Given the description of an element on the screen output the (x, y) to click on. 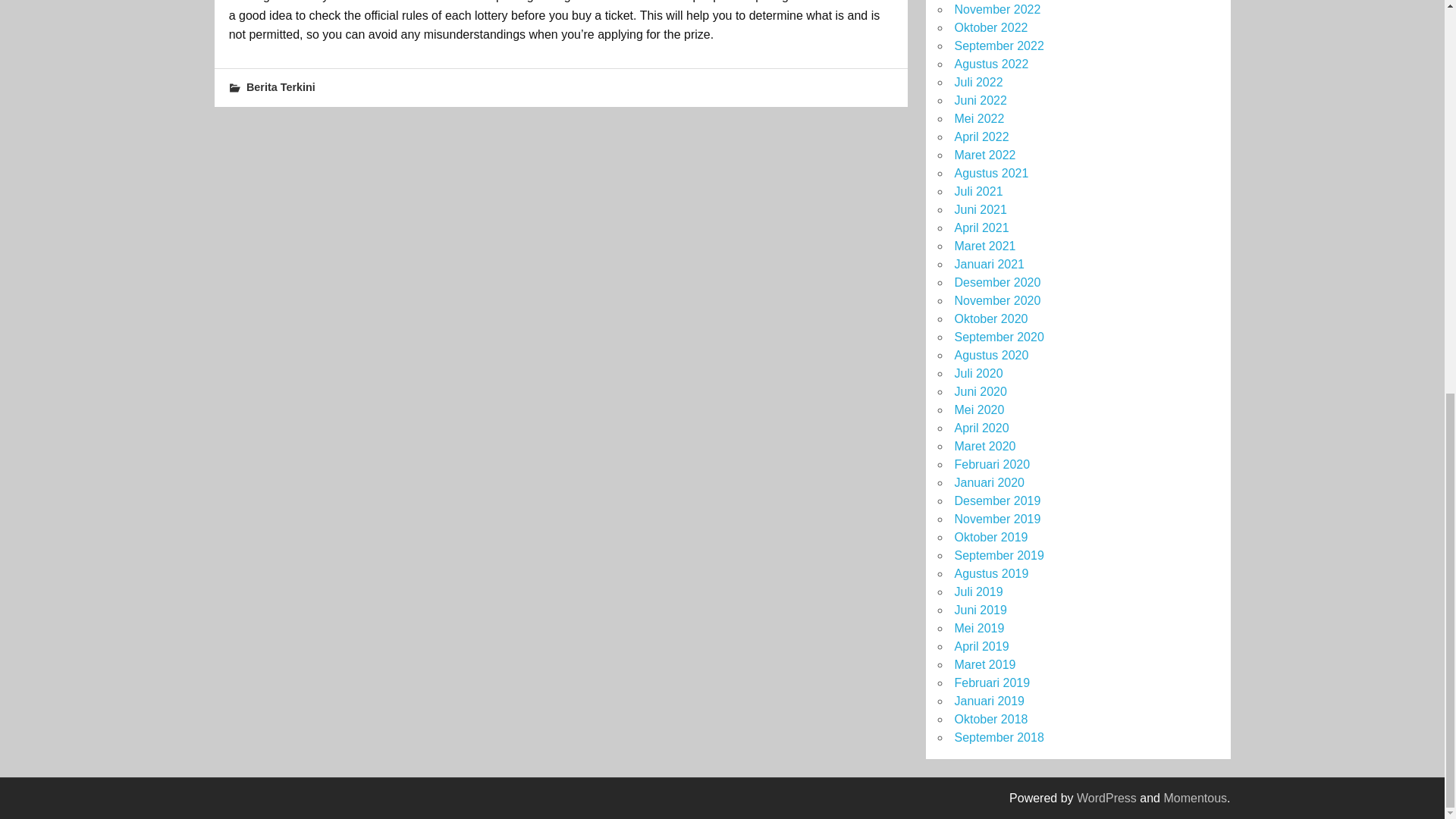
Momentous WordPress Theme (1195, 797)
September 2022 (998, 45)
November 2022 (997, 9)
Berita Terkini (280, 87)
Oktober 2022 (990, 27)
WordPress (1107, 797)
